Given the description of an element on the screen output the (x, y) to click on. 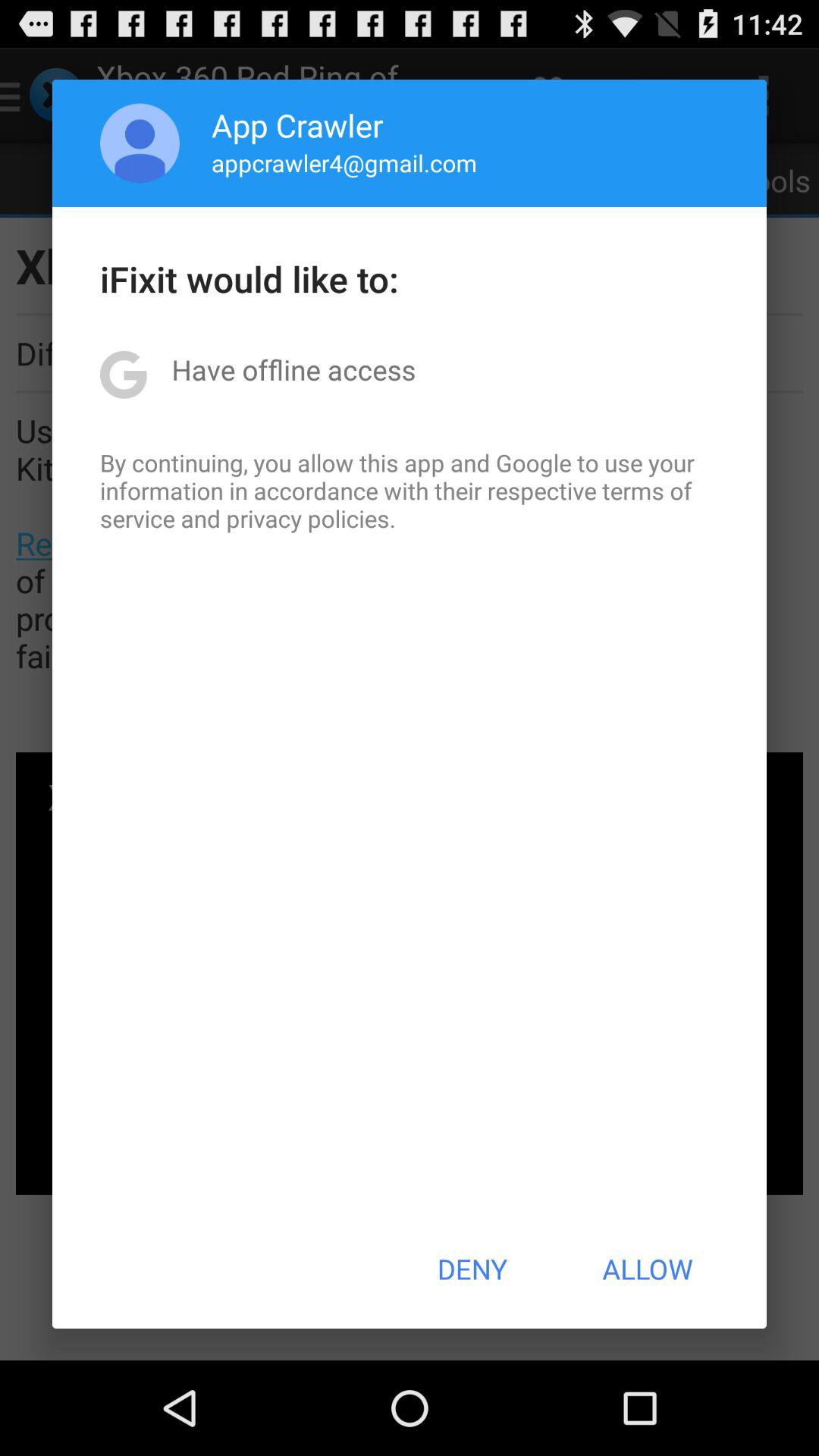
turn on icon above appcrawler4@gmail.com app (297, 124)
